Given the description of an element on the screen output the (x, y) to click on. 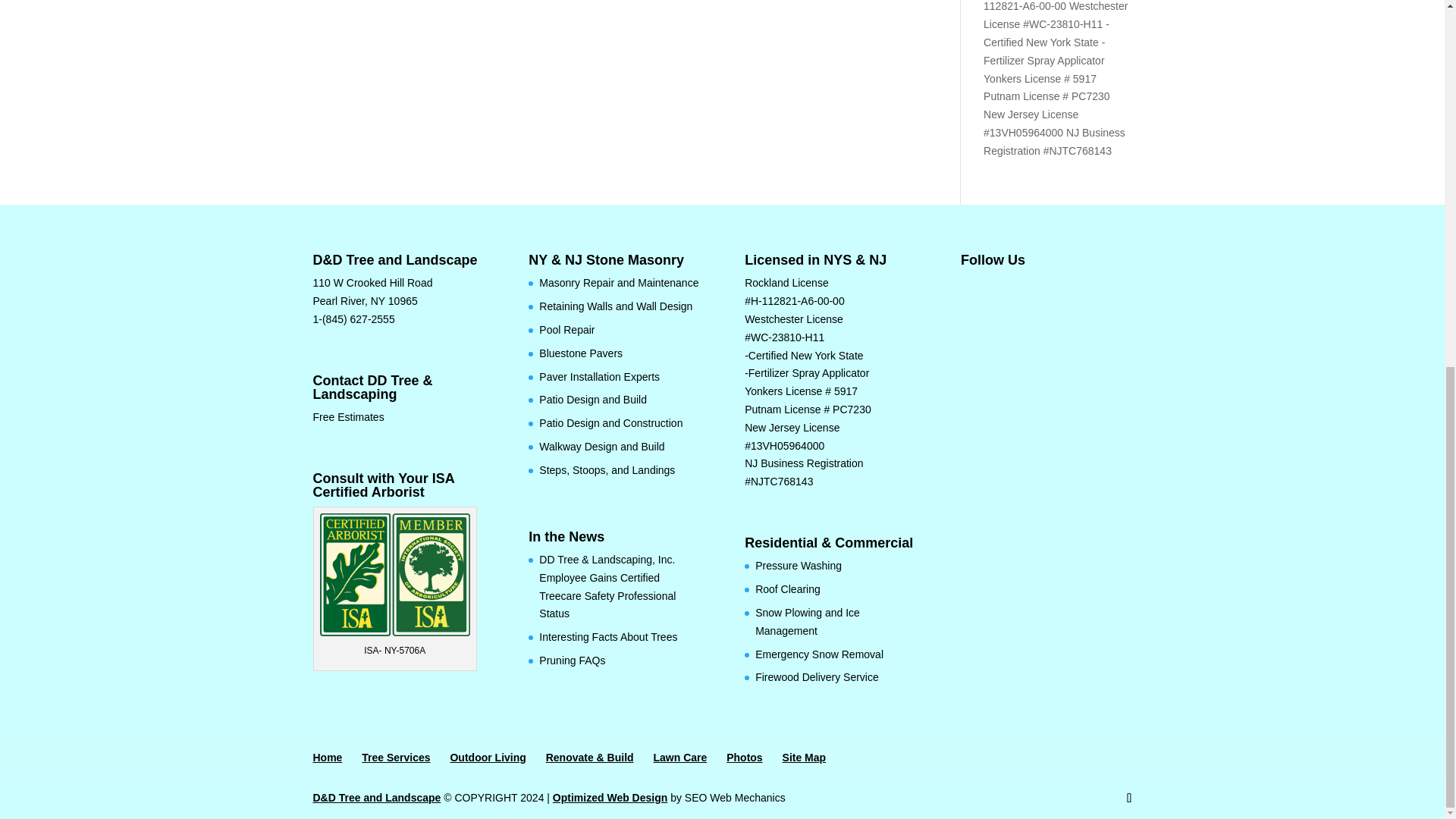
Tree Service, Home Repairs and Landscape Design (377, 797)
